Given the description of an element on the screen output the (x, y) to click on. 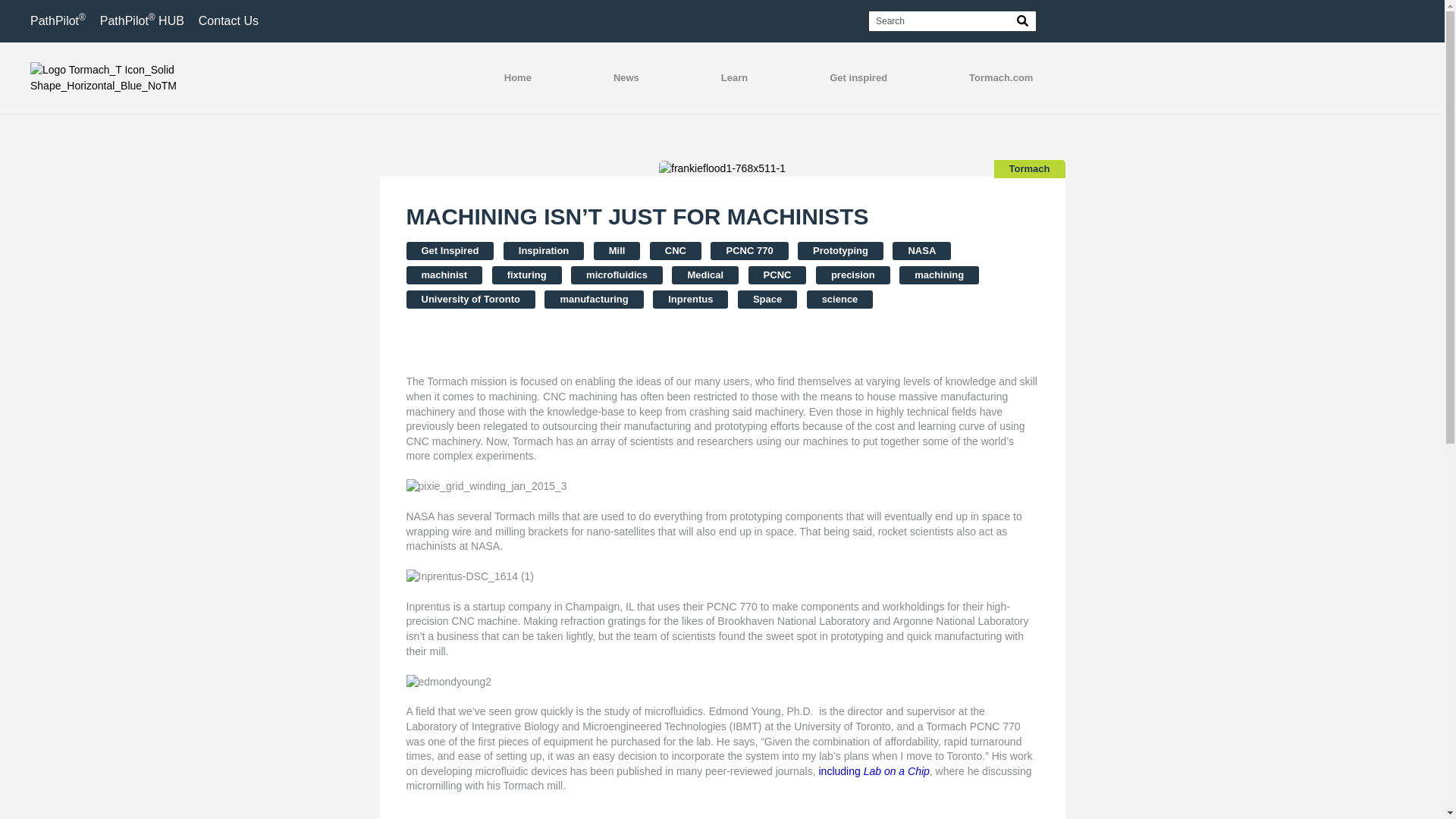
precision (852, 275)
CNC (675, 250)
Prototyping (840, 250)
Get Inspired (450, 250)
Inspiration (543, 250)
NASA (921, 250)
Tormach (1029, 168)
University of Toronto (470, 299)
fixturing (527, 275)
Mill (617, 250)
